Given the description of an element on the screen output the (x, y) to click on. 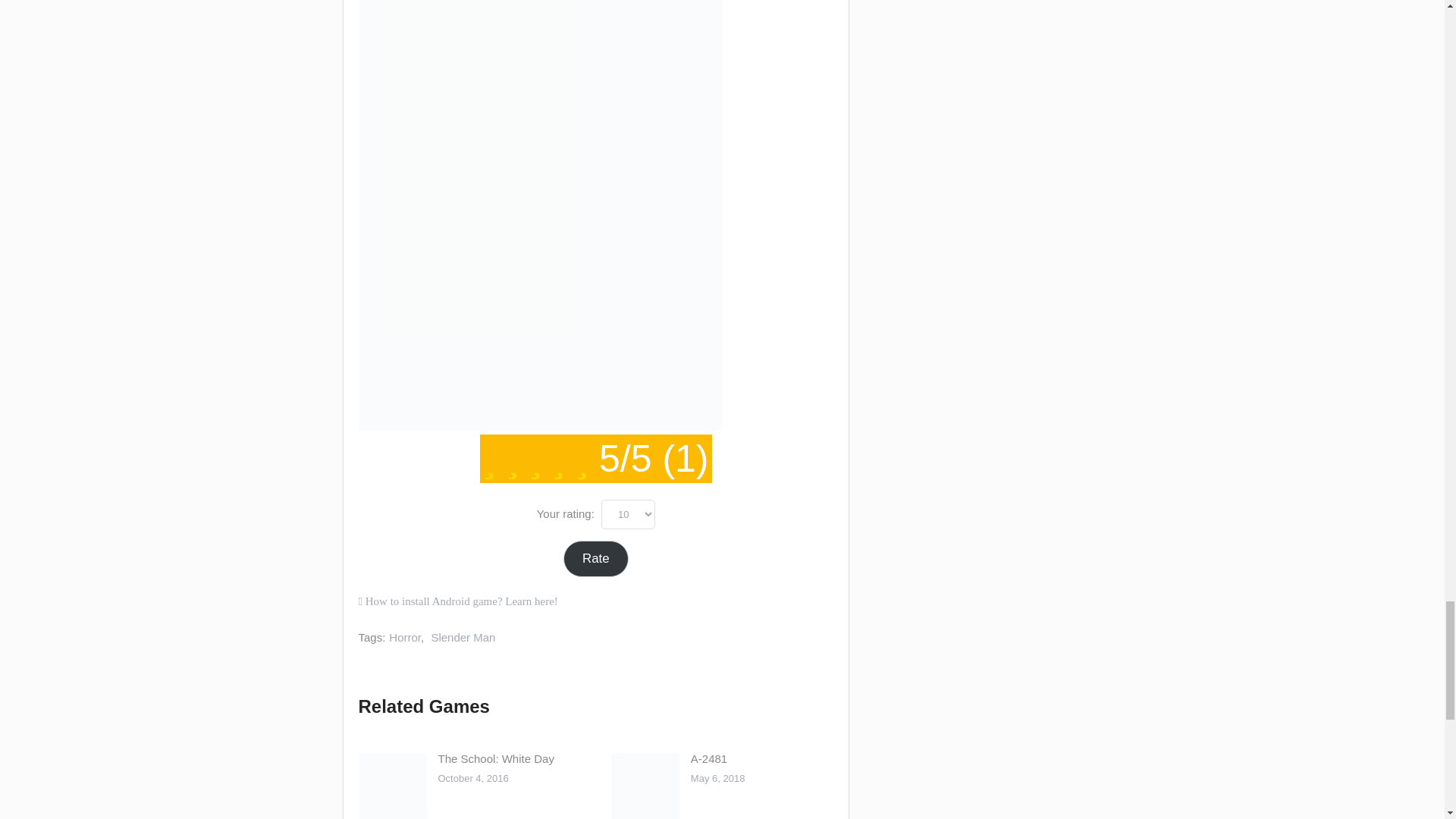
Slender Man (462, 636)
The School: White Day (496, 758)
Rate (595, 559)
 How to install Android game? Learn here! (457, 601)
A-2481 (708, 758)
Horror (404, 636)
Rate (595, 559)
